Given the description of an element on the screen output the (x, y) to click on. 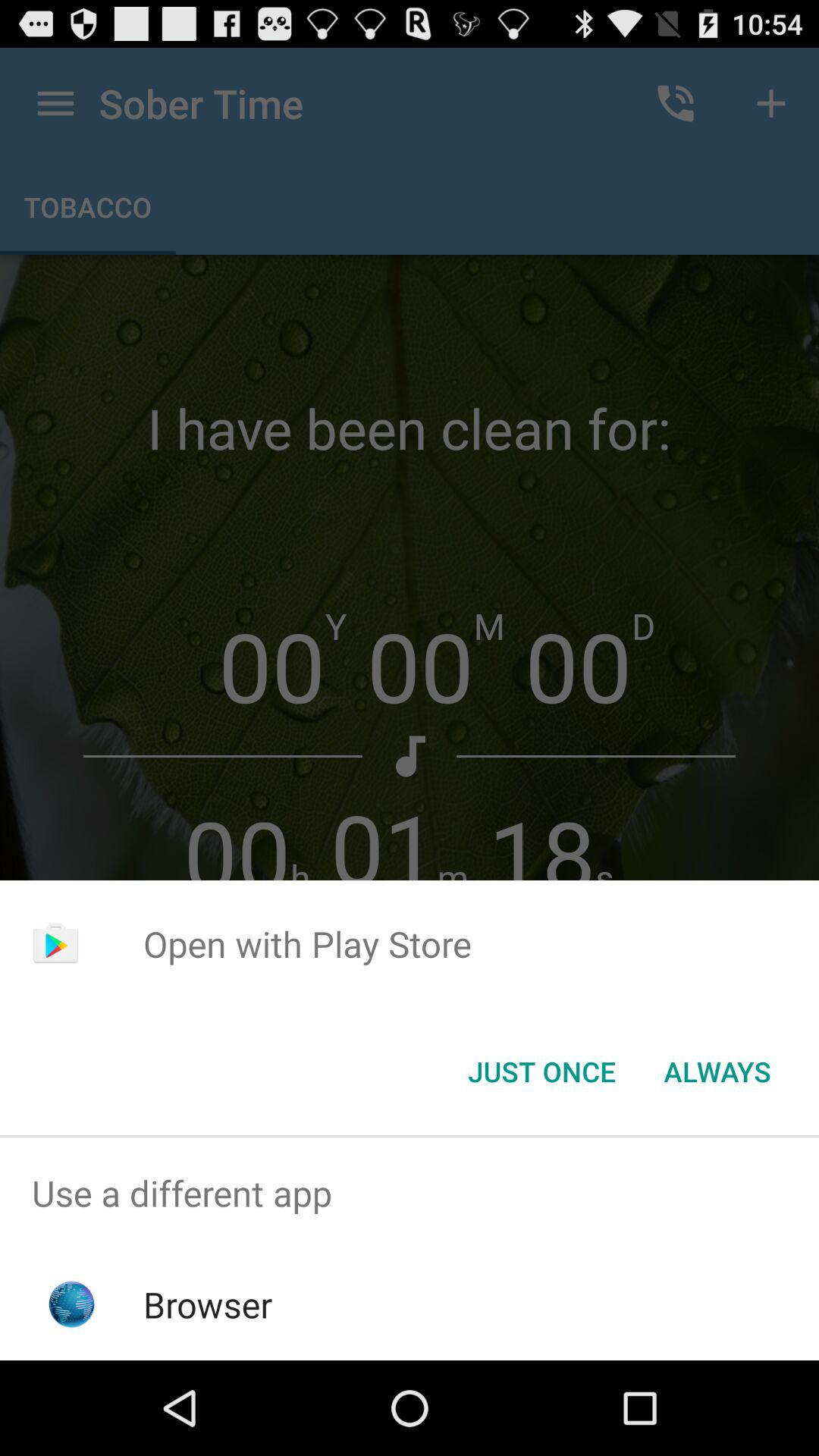
turn off item at the bottom right corner (717, 1071)
